Given the description of an element on the screen output the (x, y) to click on. 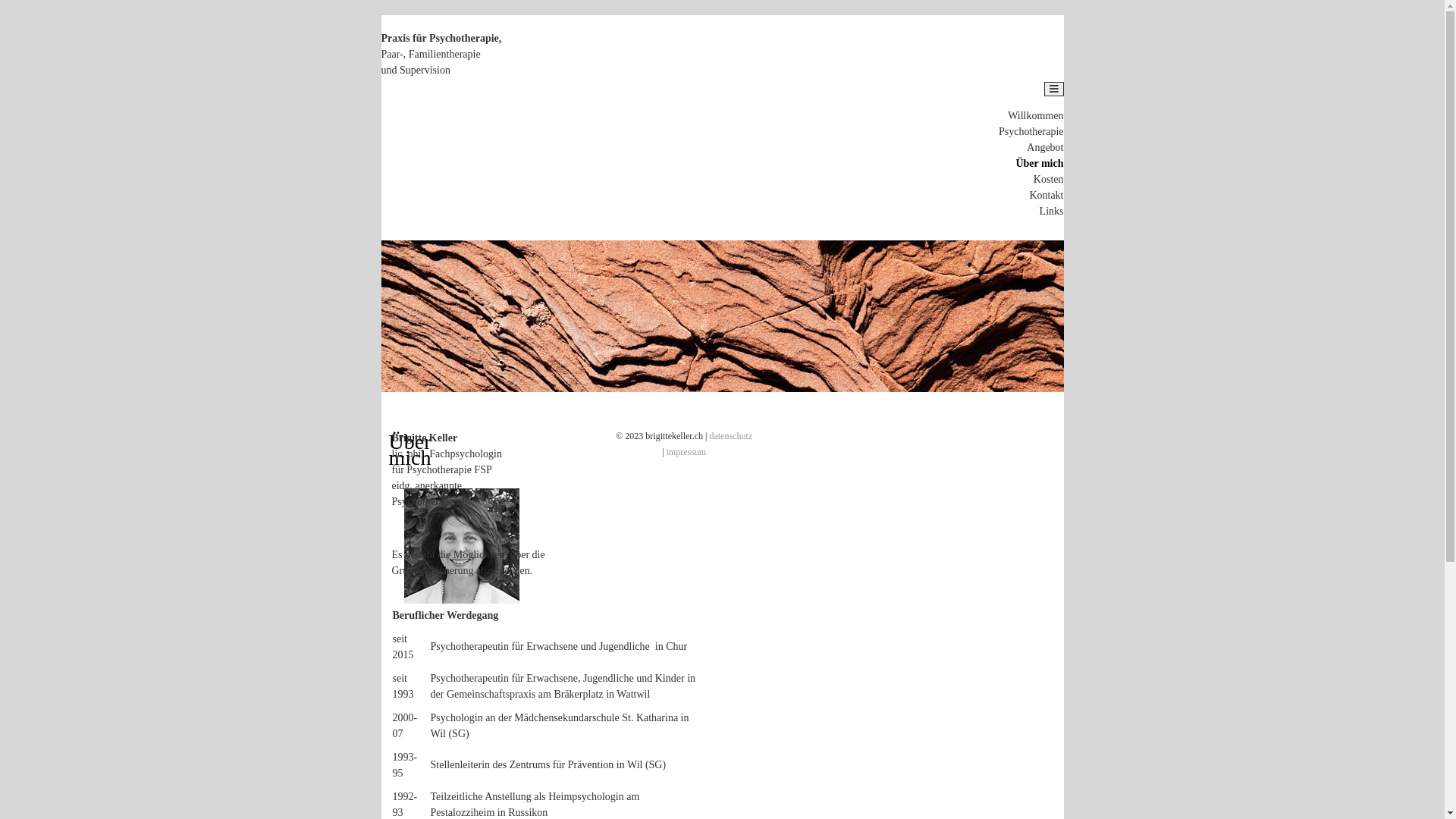
Links Element type: text (1051, 210)
datenschutz Element type: text (730, 435)
Willkommen Element type: text (1035, 115)
Kontakt Element type: text (1046, 194)
Psychotherapie Element type: text (1030, 131)
impressum Element type: text (686, 451)
Angebot Element type: text (1044, 147)
Kosten Element type: text (1048, 179)
